Given the description of an element on the screen output the (x, y) to click on. 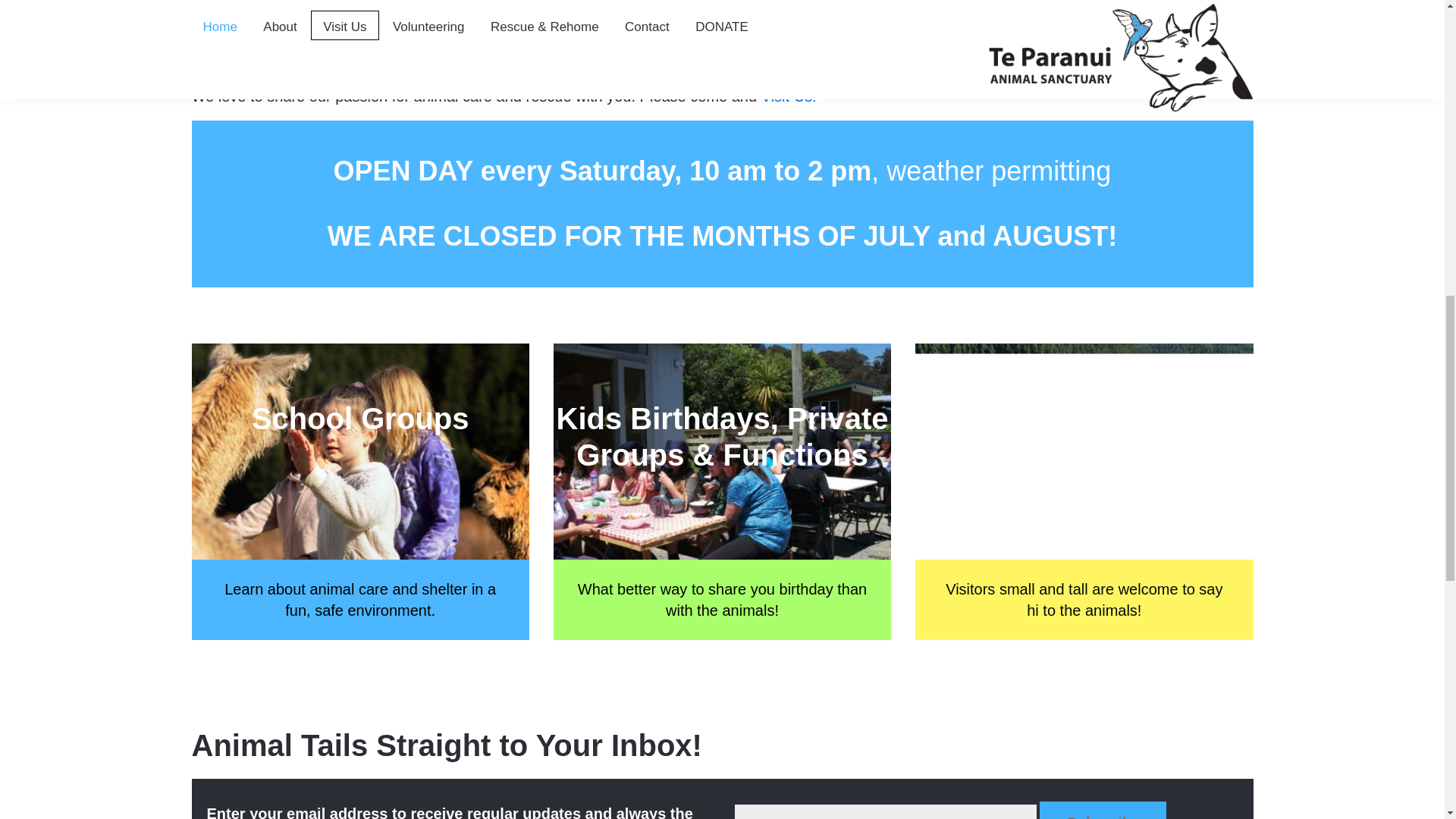
Subscribe (1102, 810)
Visit Us! (788, 95)
volunteers (292, 26)
Subscribe (1102, 810)
Hounds4Life! (275, 6)
Community Garden (986, 46)
EARTHBOUND Kitchen (1000, 6)
Permaculture Gardens (802, 26)
